Given the description of an element on the screen output the (x, y) to click on. 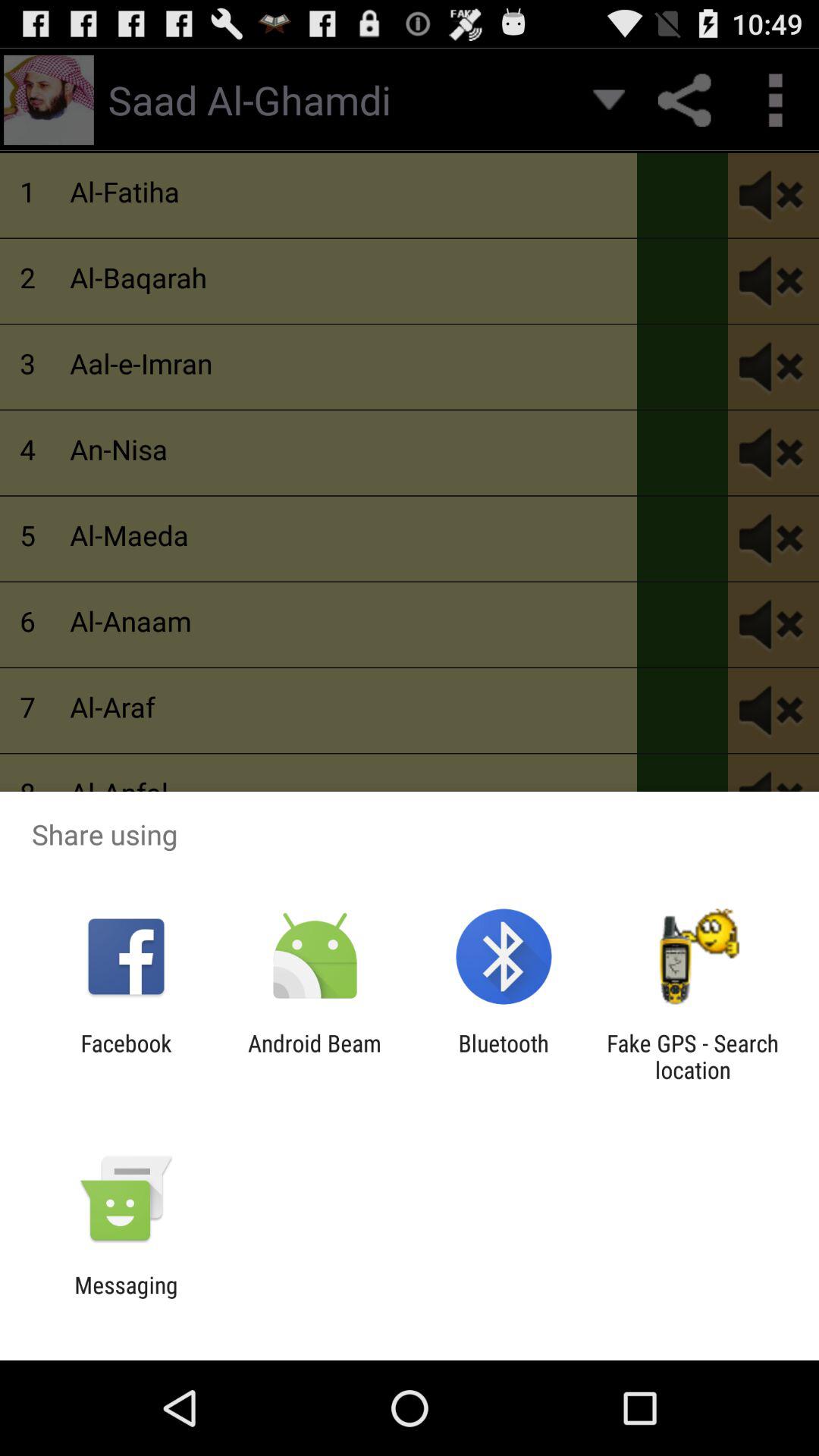
choose app next to bluetooth icon (314, 1056)
